Given the description of an element on the screen output the (x, y) to click on. 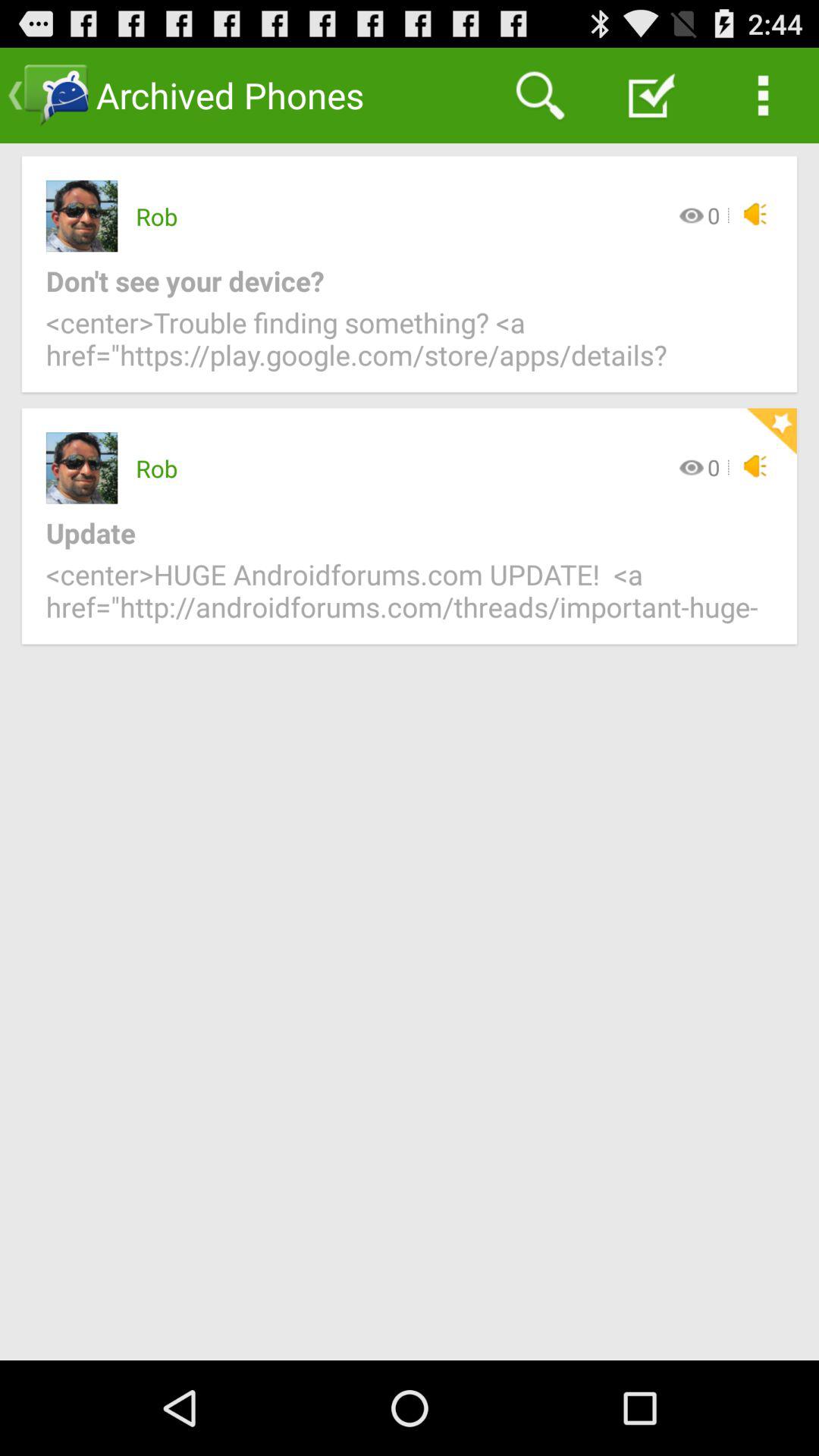
open center trouble finding item (409, 347)
